Given the description of an element on the screen output the (x, y) to click on. 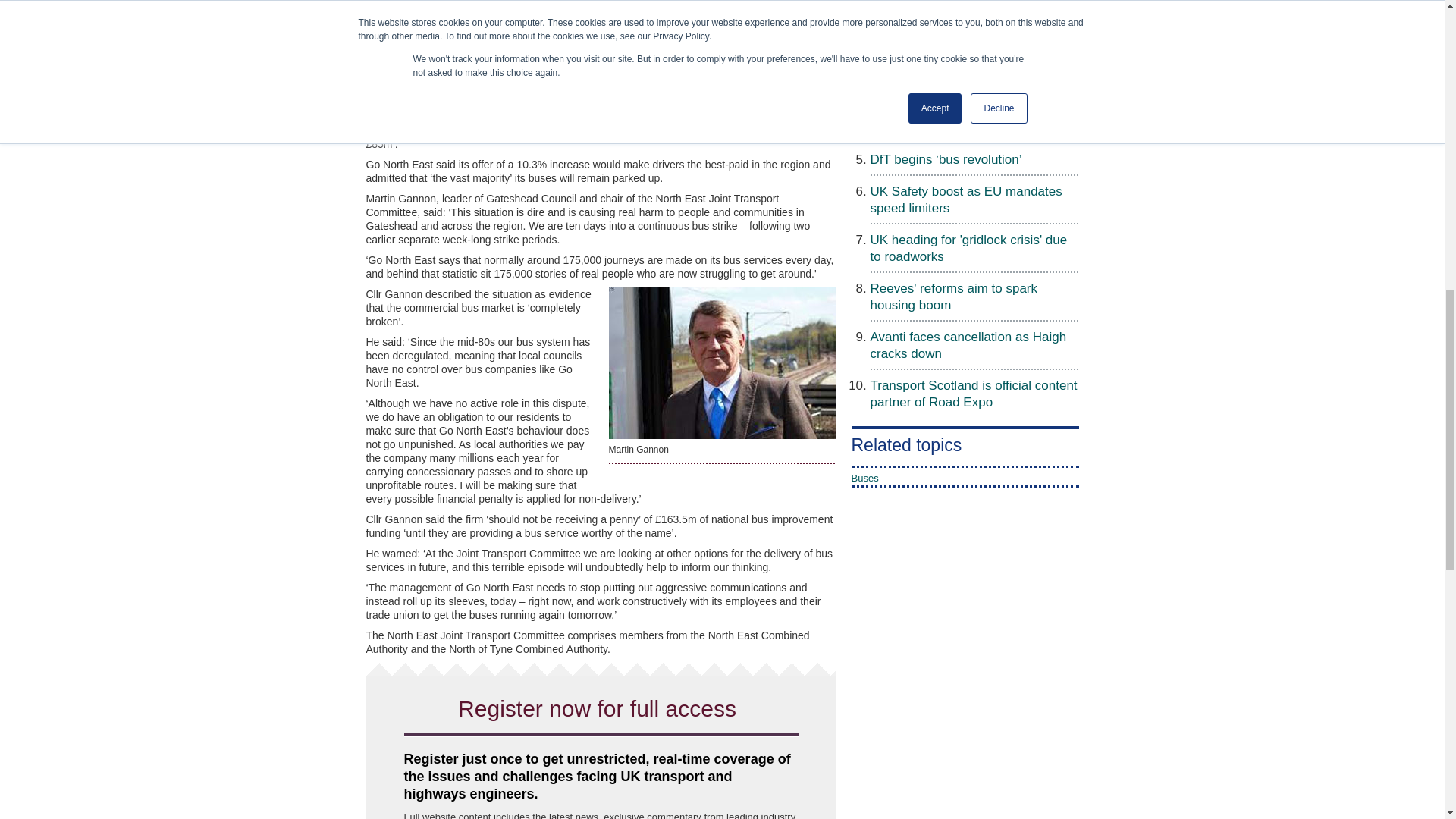
3rd party ad content (907, 671)
